Given the description of an element on the screen output the (x, y) to click on. 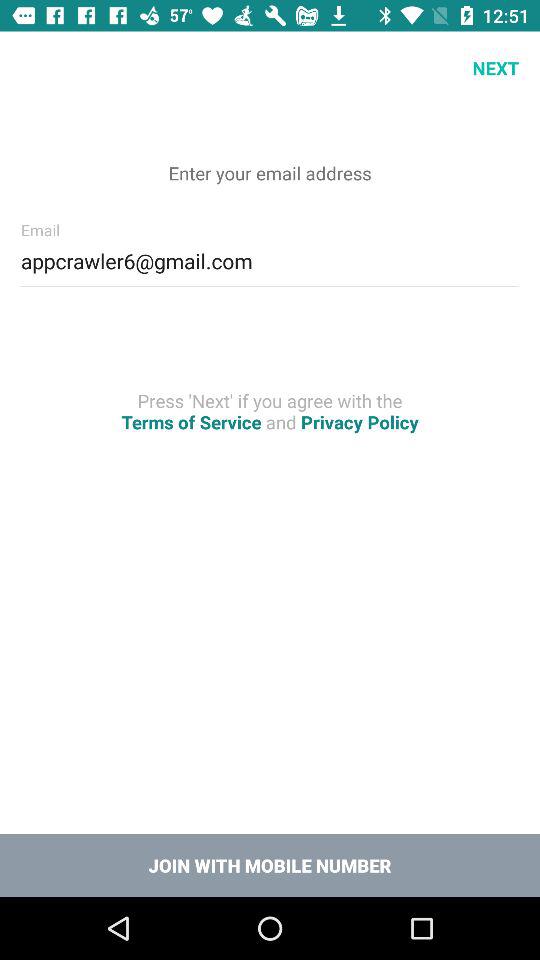
tap appcrawler6@gmail.com (270, 258)
